Given the description of an element on the screen output the (x, y) to click on. 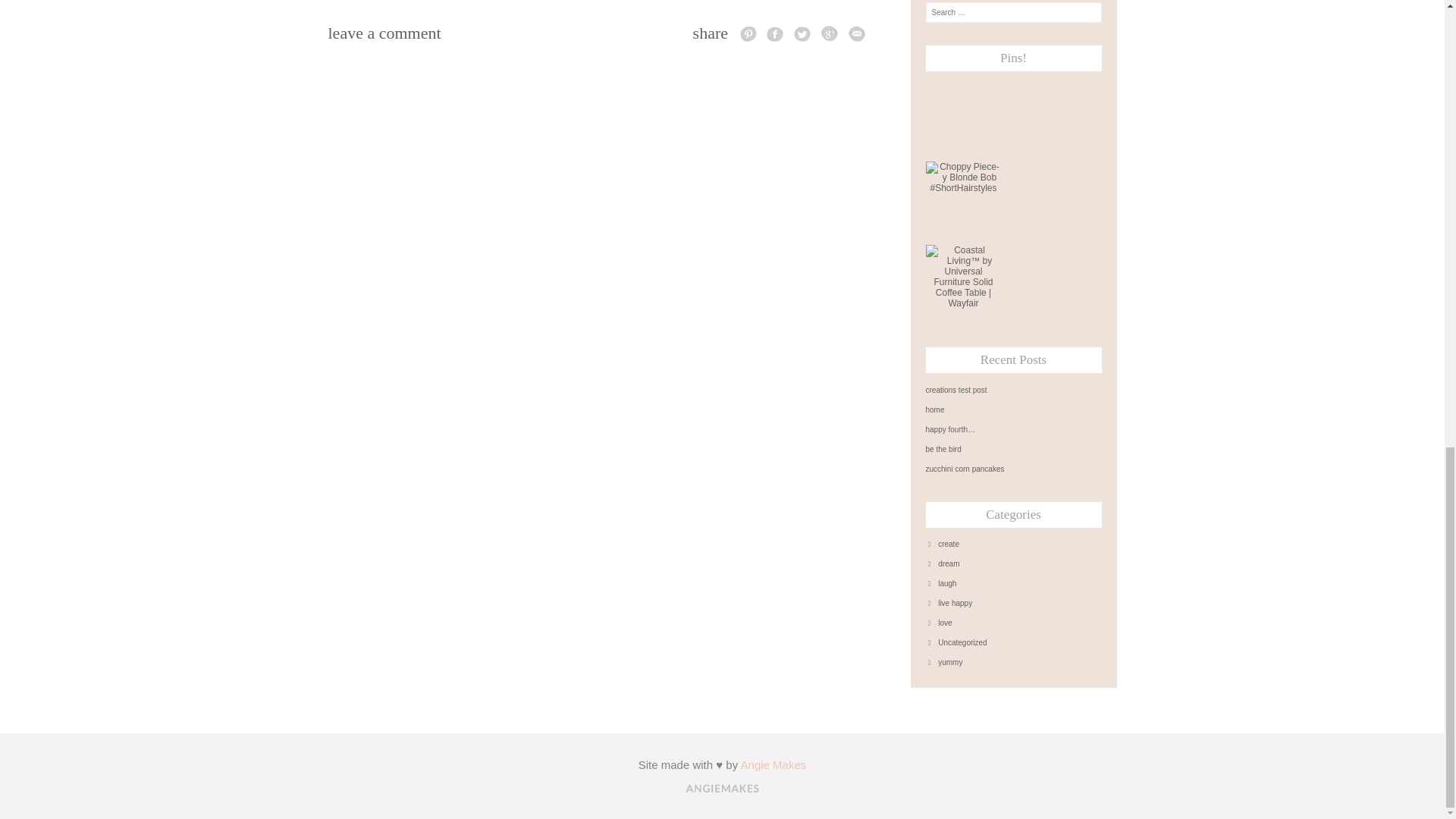
leave a comment (384, 32)
creations test post (1012, 390)
 - Pinned on Apr 11, 2021 (1046, 249)
Share by Email (855, 33)
 - Pinned on Aug 16, 2021 (962, 82)
 - Pinned on Apr 11, 2021 (1046, 82)
 - Pinned on Apr 11, 2021 (1046, 166)
